Given the description of an element on the screen output the (x, y) to click on. 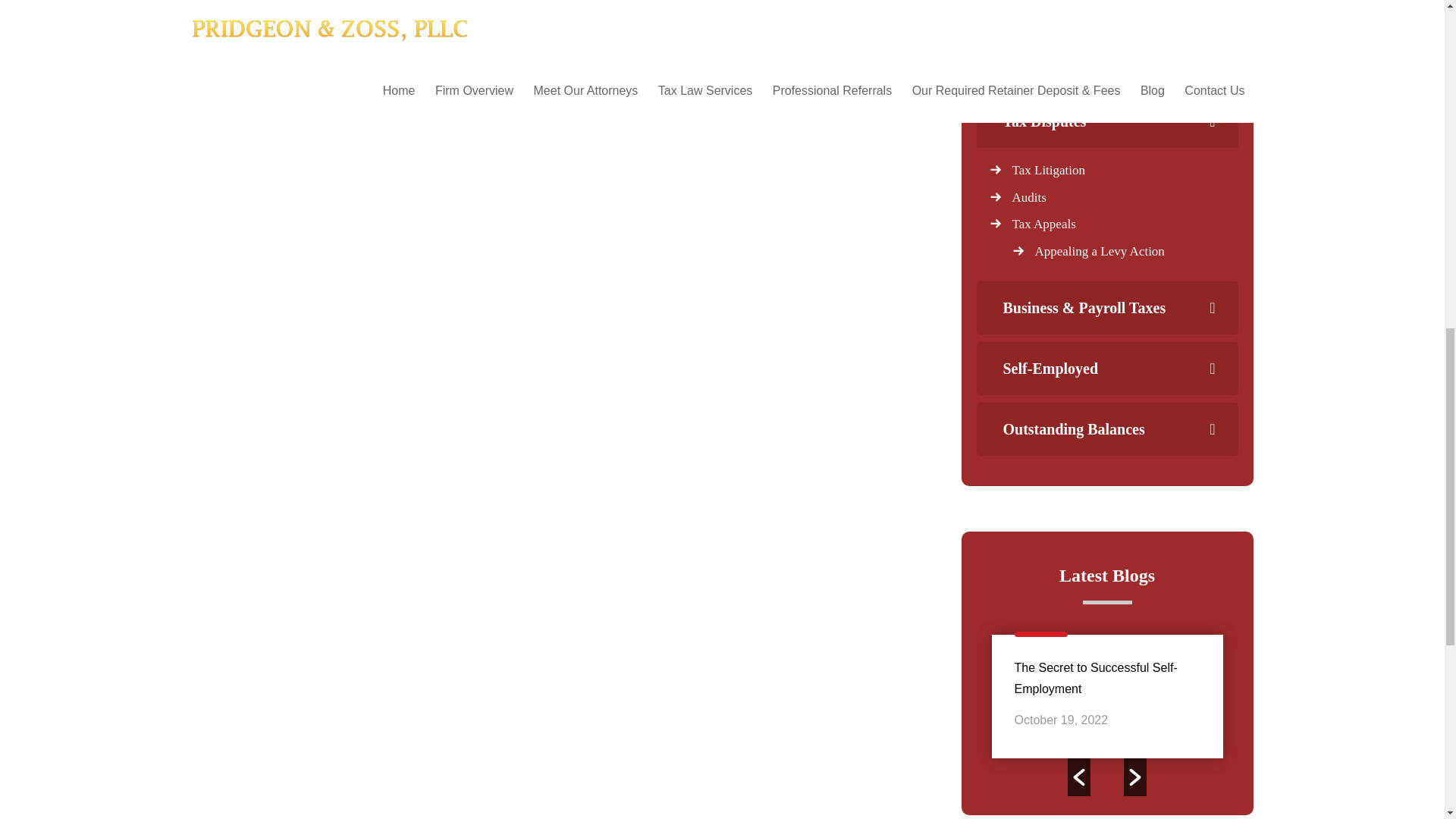
Tax Litigation (1047, 169)
Audits (1028, 196)
Tax Disputes (1106, 121)
